Given the description of an element on the screen output the (x, y) to click on. 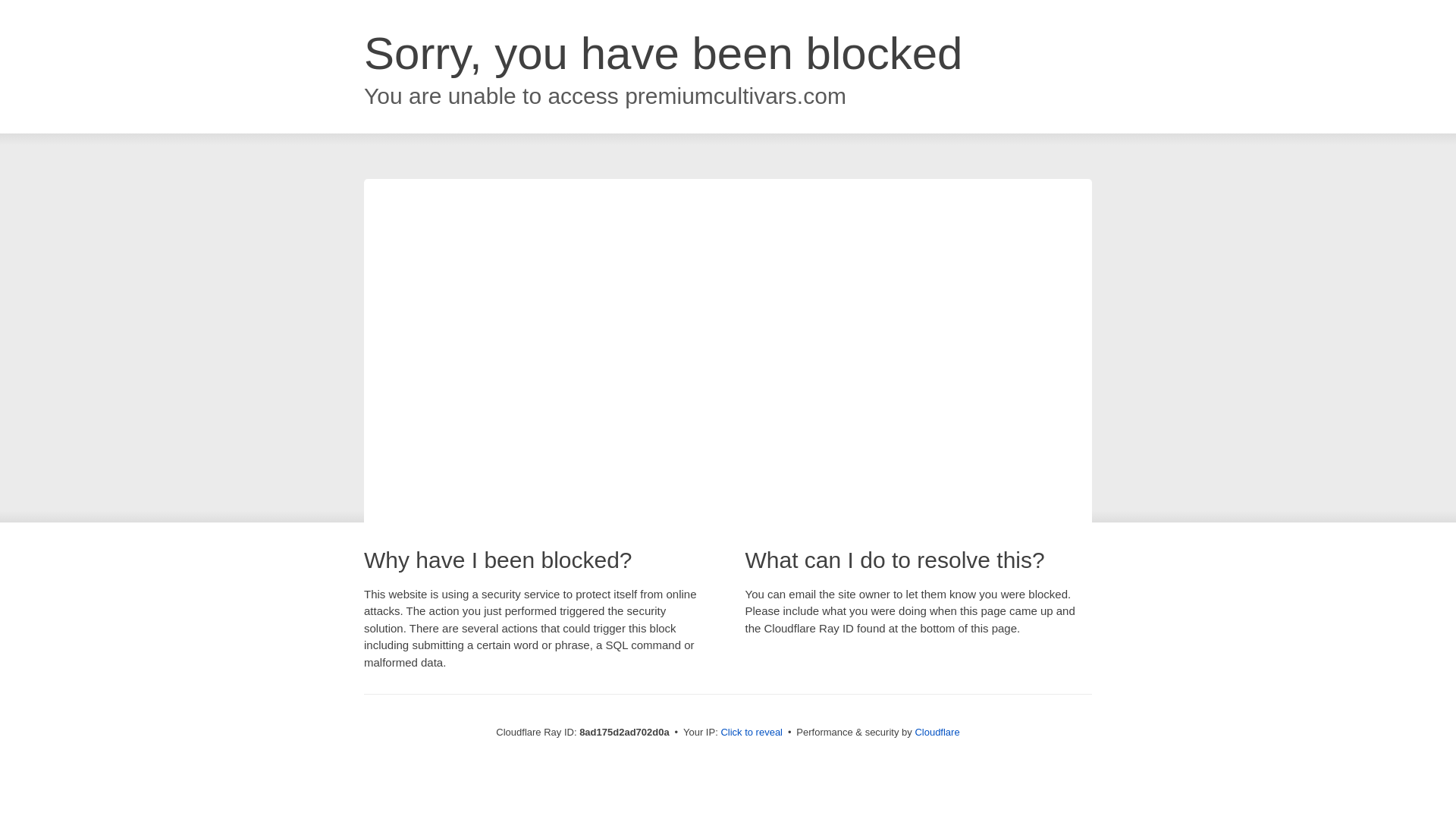
Cloudflare (936, 731)
Click to reveal (751, 732)
